Given the description of an element on the screen output the (x, y) to click on. 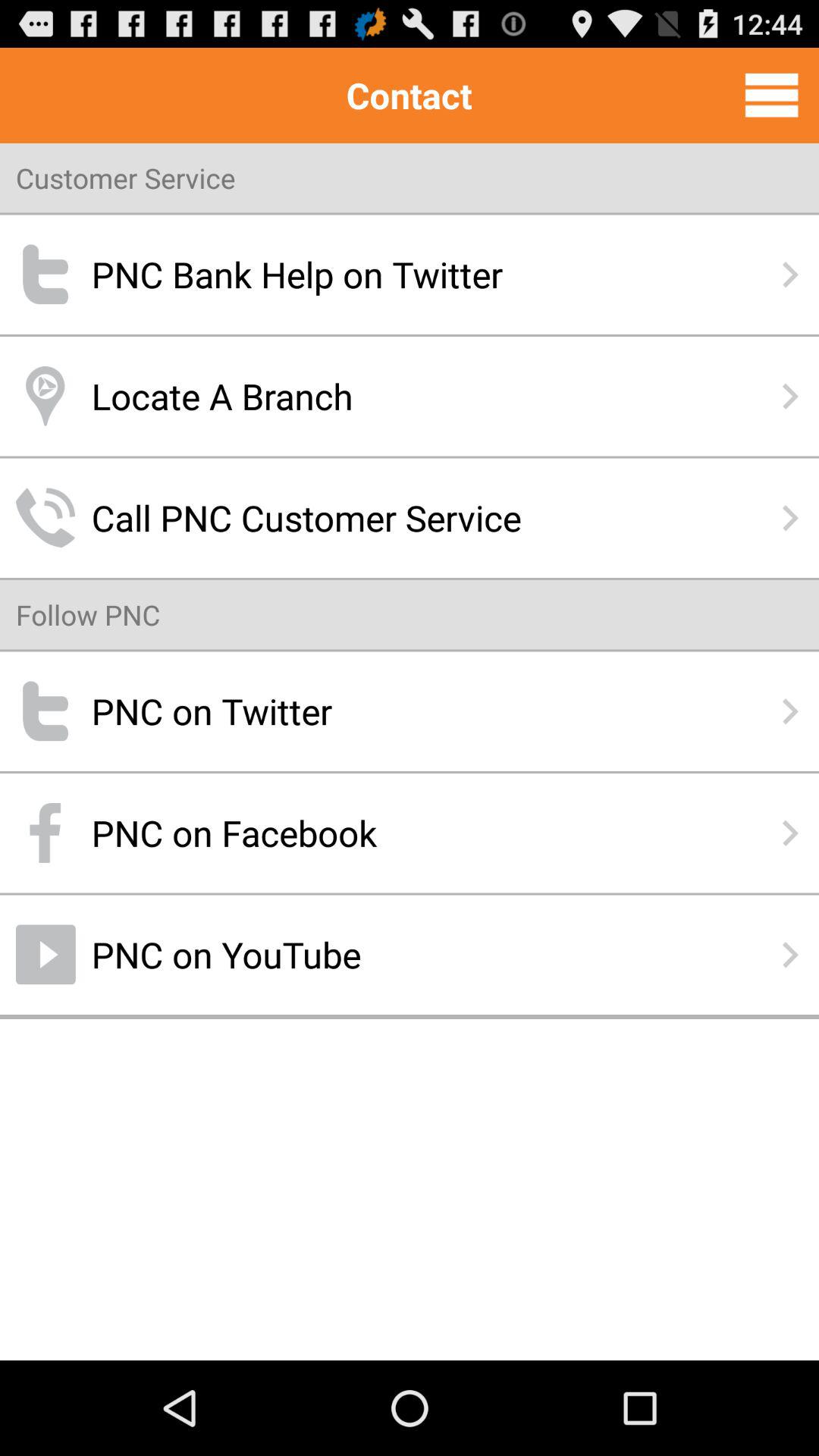
flip until the follow pnc item (87, 614)
